Given the description of an element on the screen output the (x, y) to click on. 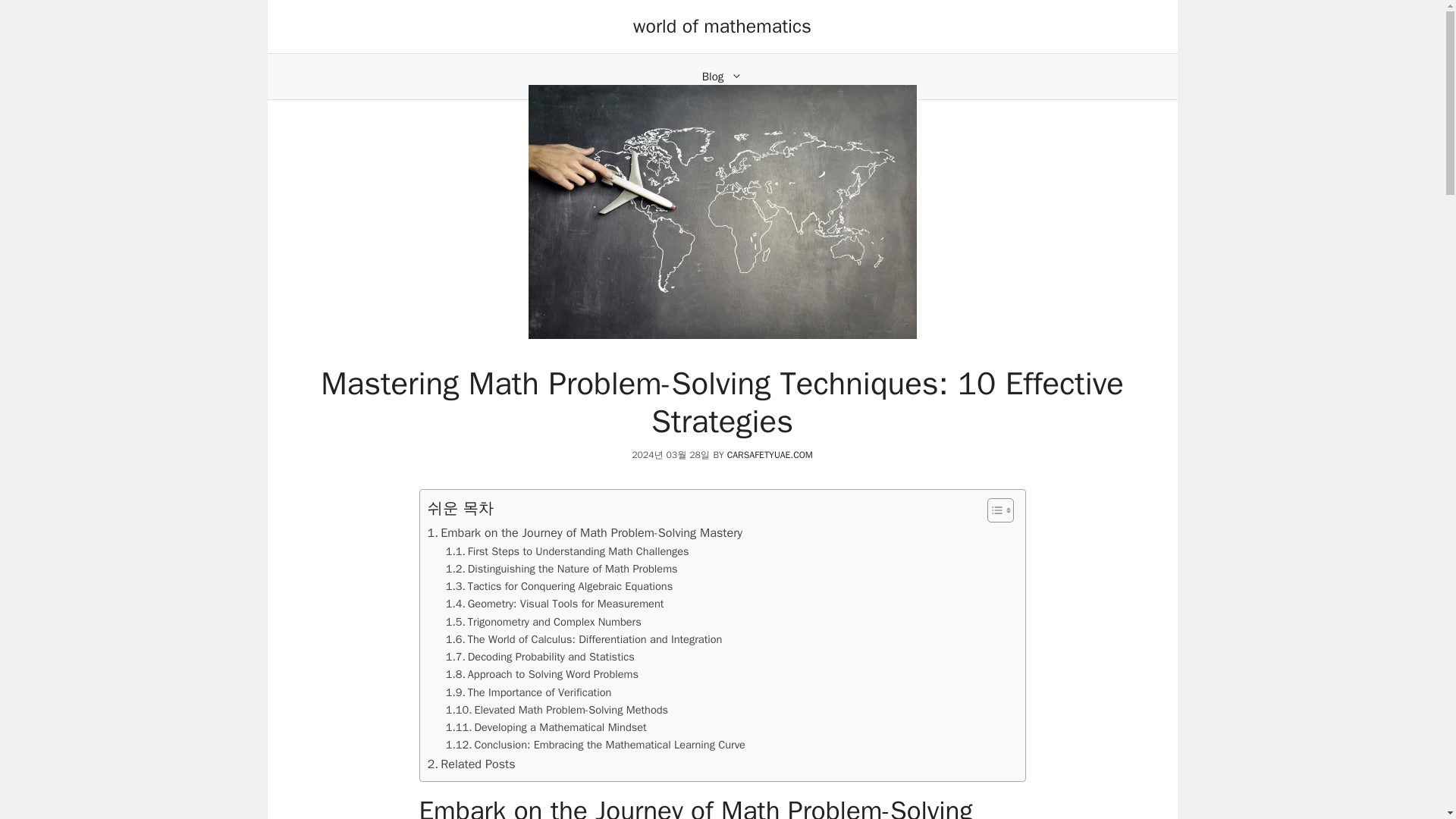
Elevated Math Problem-Solving Methods (556, 710)
First Steps to Understanding Math Challenges (566, 551)
Developing a Mathematical Mindset (545, 727)
Trigonometry and Complex Numbers (543, 621)
Tactics for Conquering Algebraic Equations (558, 586)
Developing a Mathematical Mindset (545, 727)
Blog (722, 76)
Conclusion: Embracing the Mathematical Learning Curve (595, 744)
Embark on the Journey of Math Problem-Solving Mastery (585, 532)
Related Posts (471, 763)
First Steps to Understanding Math Challenges (566, 551)
Trigonometry and Complex Numbers (543, 621)
Decoding Probability and Statistics (539, 656)
Tactics for Conquering Algebraic Equations (558, 586)
Related Posts (471, 763)
